Given the description of an element on the screen output the (x, y) to click on. 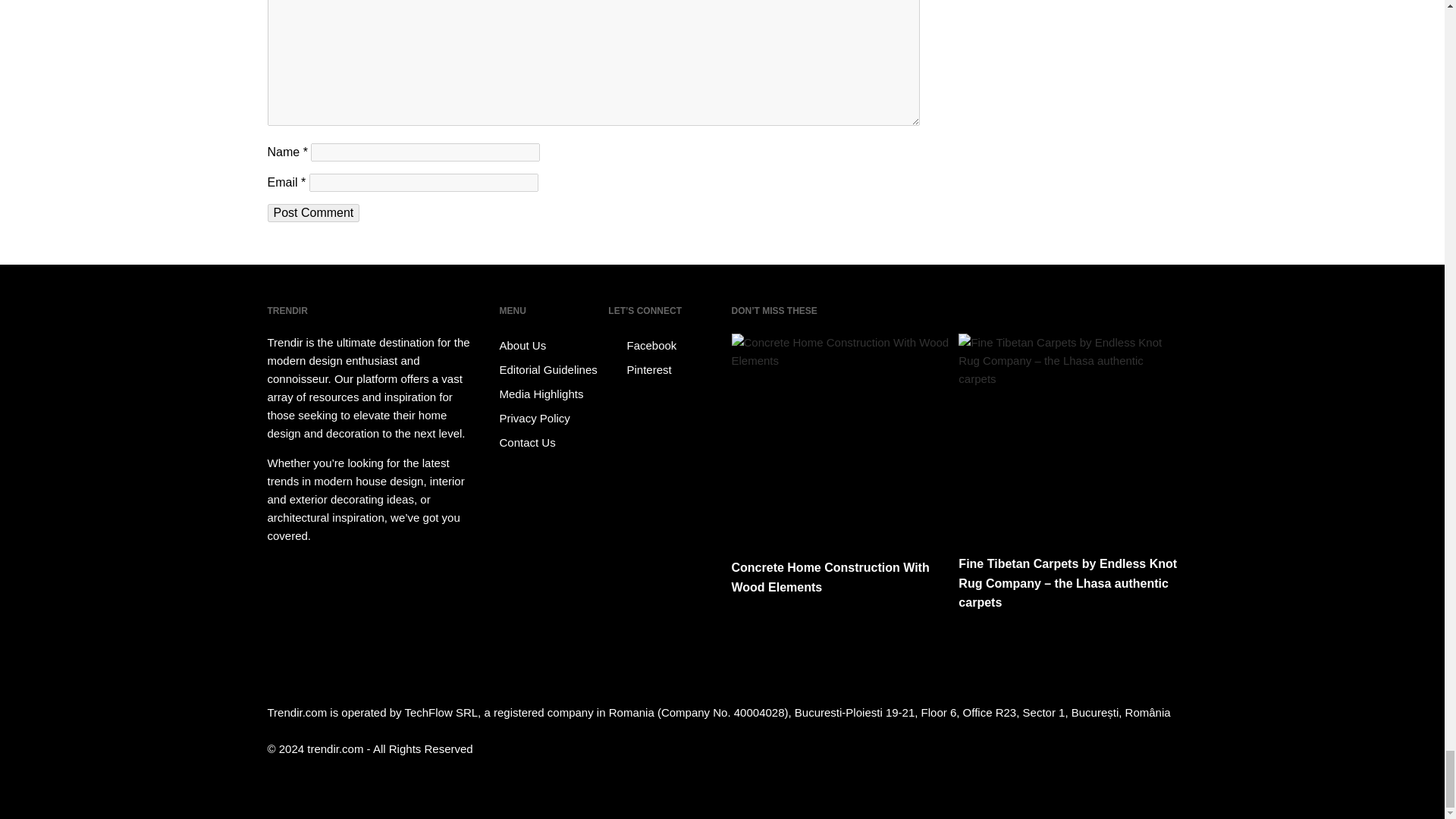
Post Comment (312, 212)
About Us - Trendir (551, 345)
Trendir Editorial Guidelines (551, 369)
Media Highlights - Trendir (551, 394)
